Given the description of an element on the screen output the (x, y) to click on. 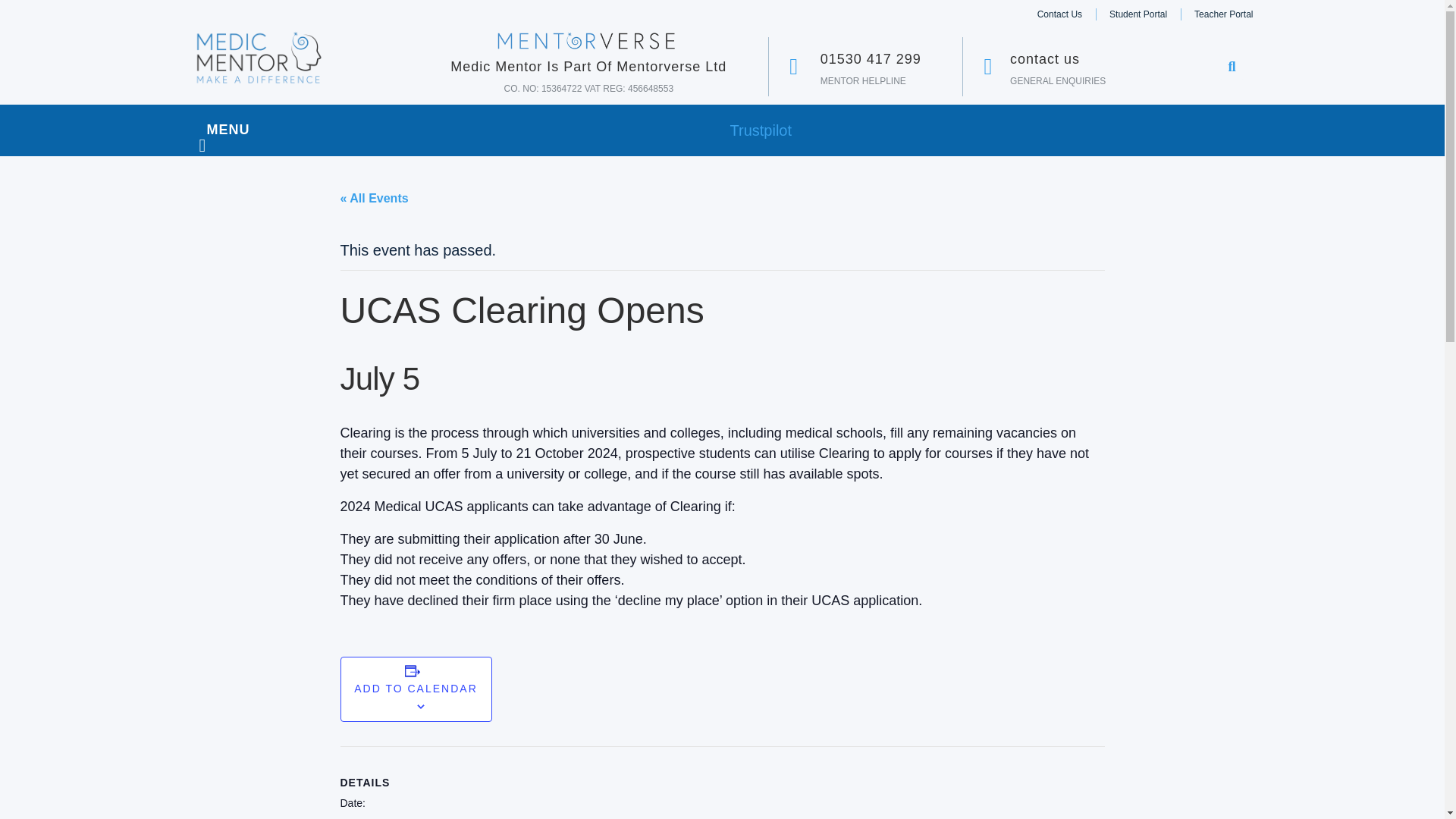
Teacher Portal (1222, 14)
01530 417 299 (871, 58)
contact us (1045, 58)
Medic Mentor Is Part Of Mentorverse Ltd (587, 66)
Student Portal (1138, 14)
Contact Us (1058, 14)
